Given the description of an element on the screen output the (x, y) to click on. 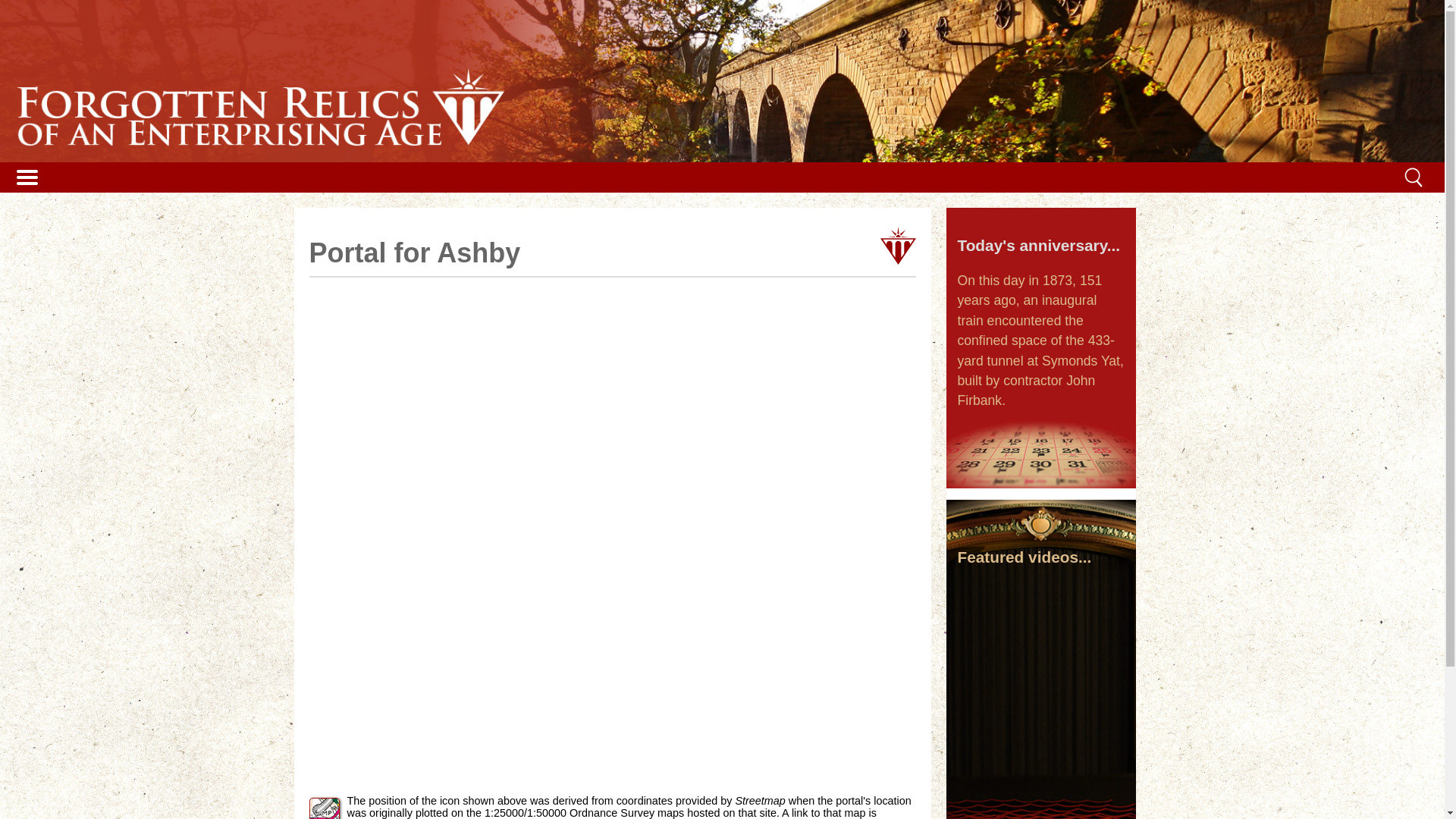
YouTube video player (1040, 628)
YouTube video player (1040, 726)
